Given the description of an element on the screen output the (x, y) to click on. 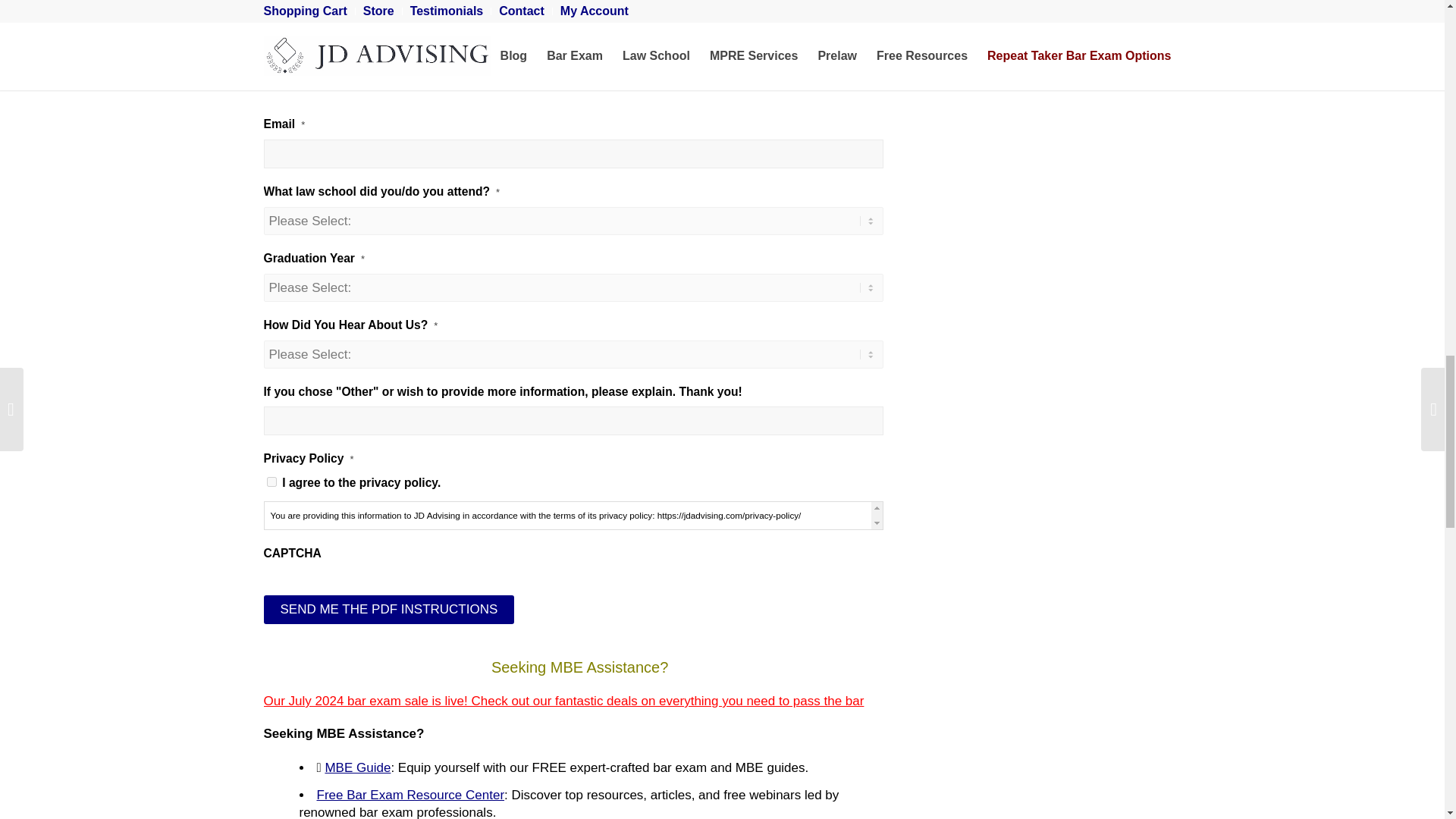
Send me the PDF Instructions (389, 609)
1 (271, 481)
